Given the description of an element on the screen output the (x, y) to click on. 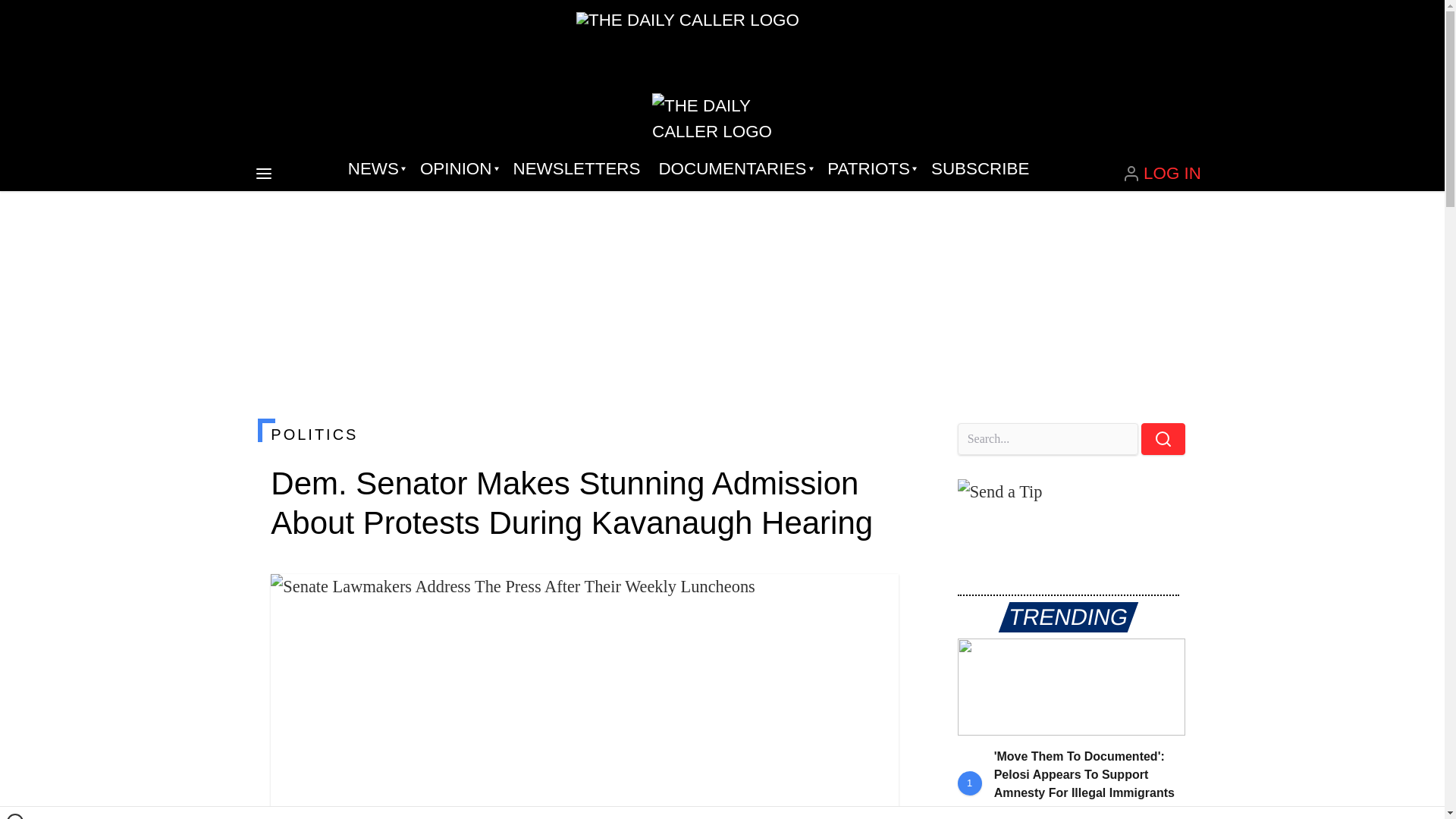
DOCUMENTARIES (733, 168)
Toggle fullscreen (874, 597)
Close window (14, 816)
NEWSLETTERS (576, 168)
OPINION (456, 168)
SUBSCRIBE (979, 168)
PATRIOTS (869, 168)
POLITICS (584, 434)
